Given the description of an element on the screen output the (x, y) to click on. 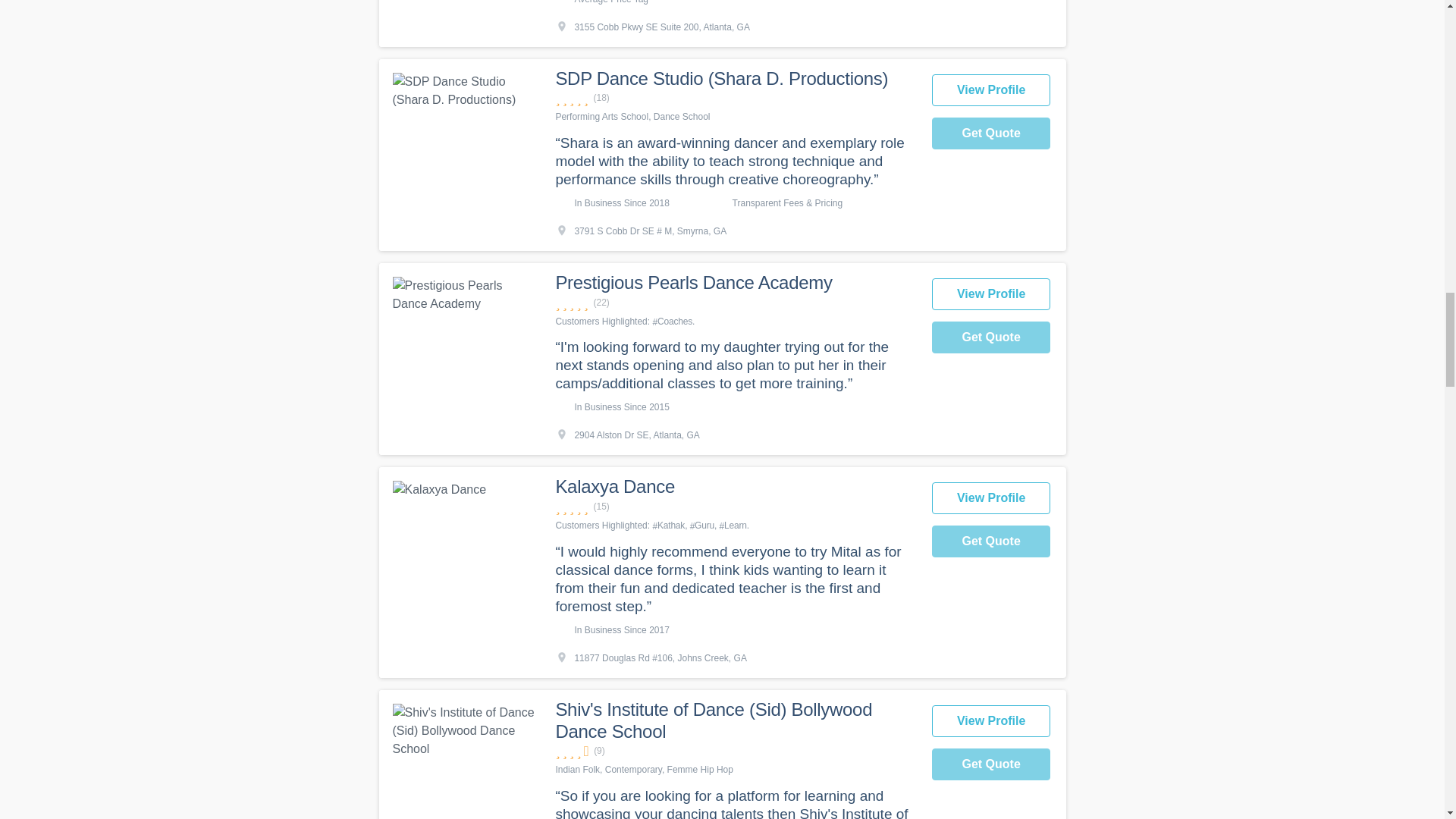
5.0 (734, 97)
4.6 (734, 750)
4.9 (734, 506)
4.7 (734, 302)
